Given the description of an element on the screen output the (x, y) to click on. 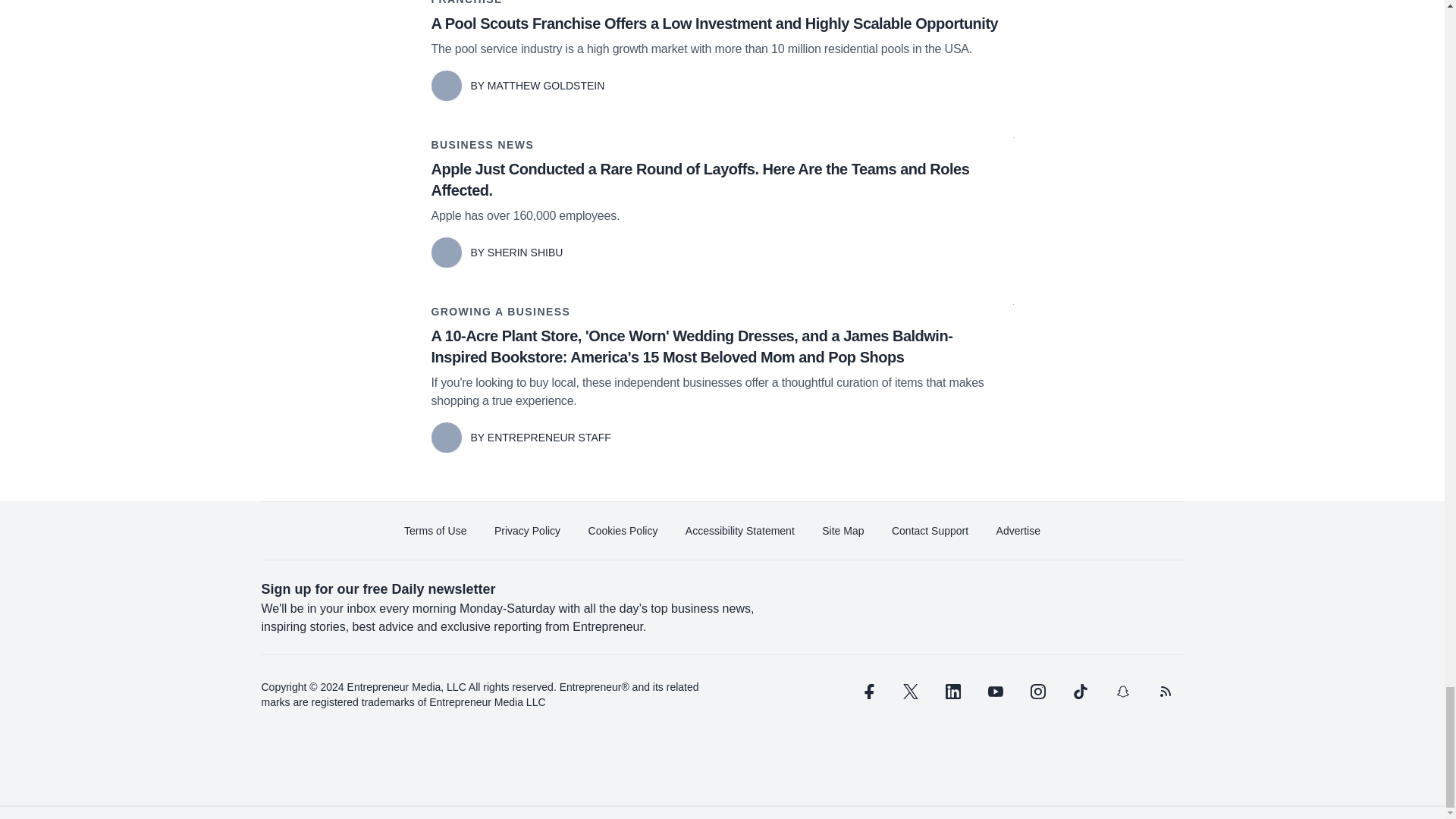
twitter (909, 691)
snapchat (1121, 691)
tiktok (1079, 691)
facebook (866, 691)
linkedin (952, 691)
instagram (1037, 691)
youtube (994, 691)
